Given the description of an element on the screen output the (x, y) to click on. 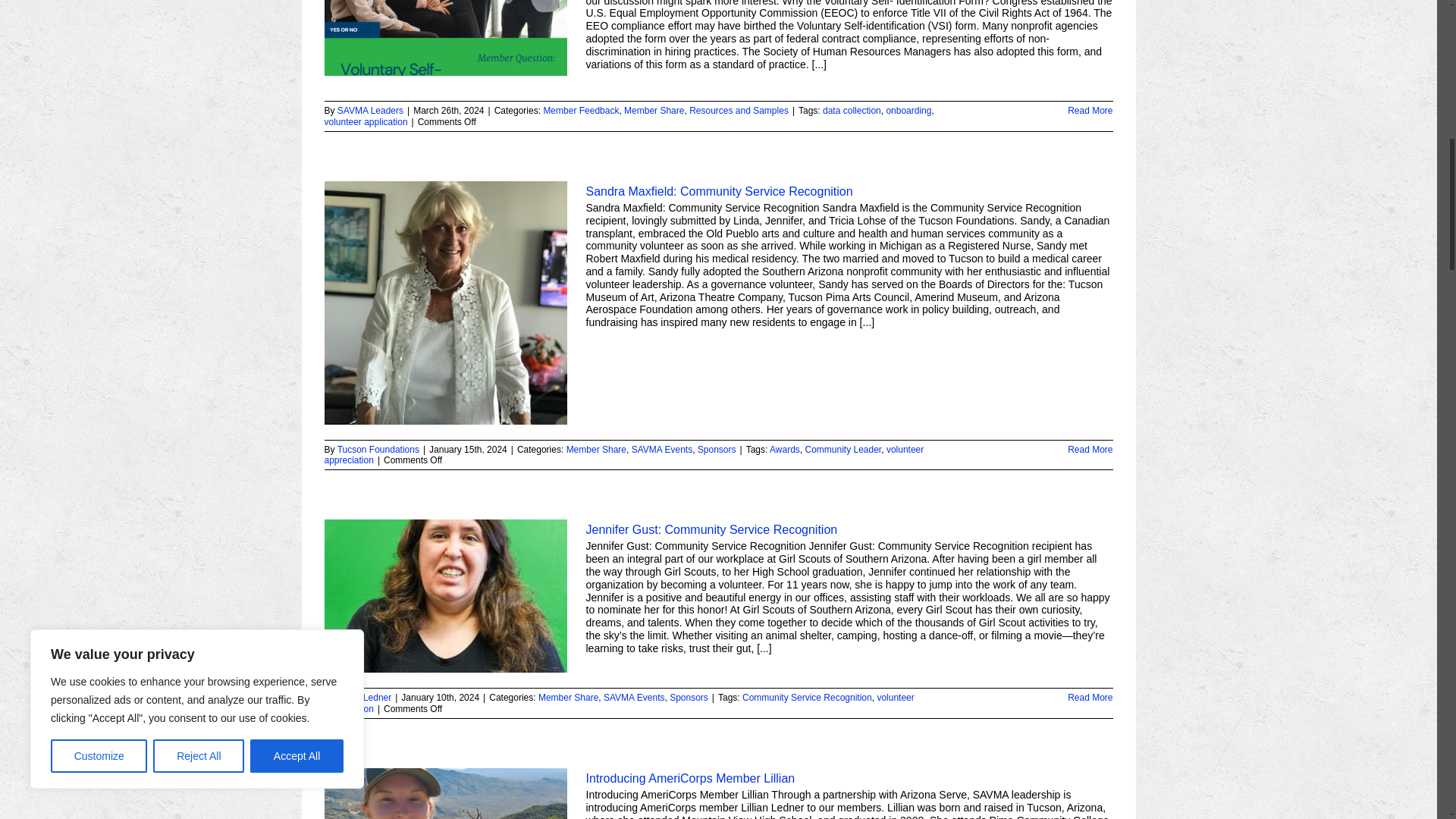
Posts by Lillian Ledner (364, 697)
Posts by SAVMA Leaders (370, 110)
Posts by Tucson Foundations (378, 449)
